Given the description of an element on the screen output the (x, y) to click on. 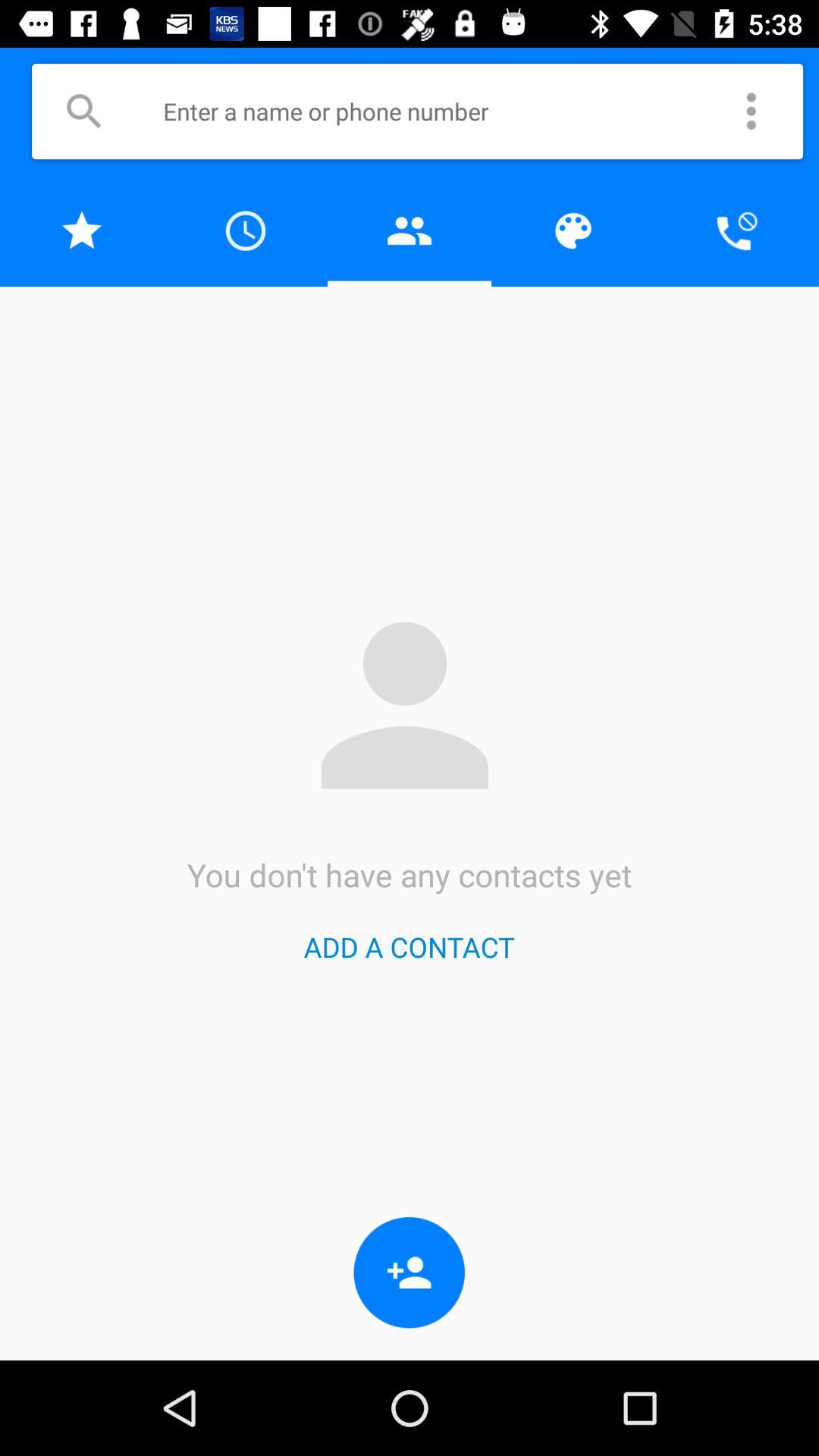
talvez seja somente um problema (409, 230)
